Given the description of an element on the screen output the (x, y) to click on. 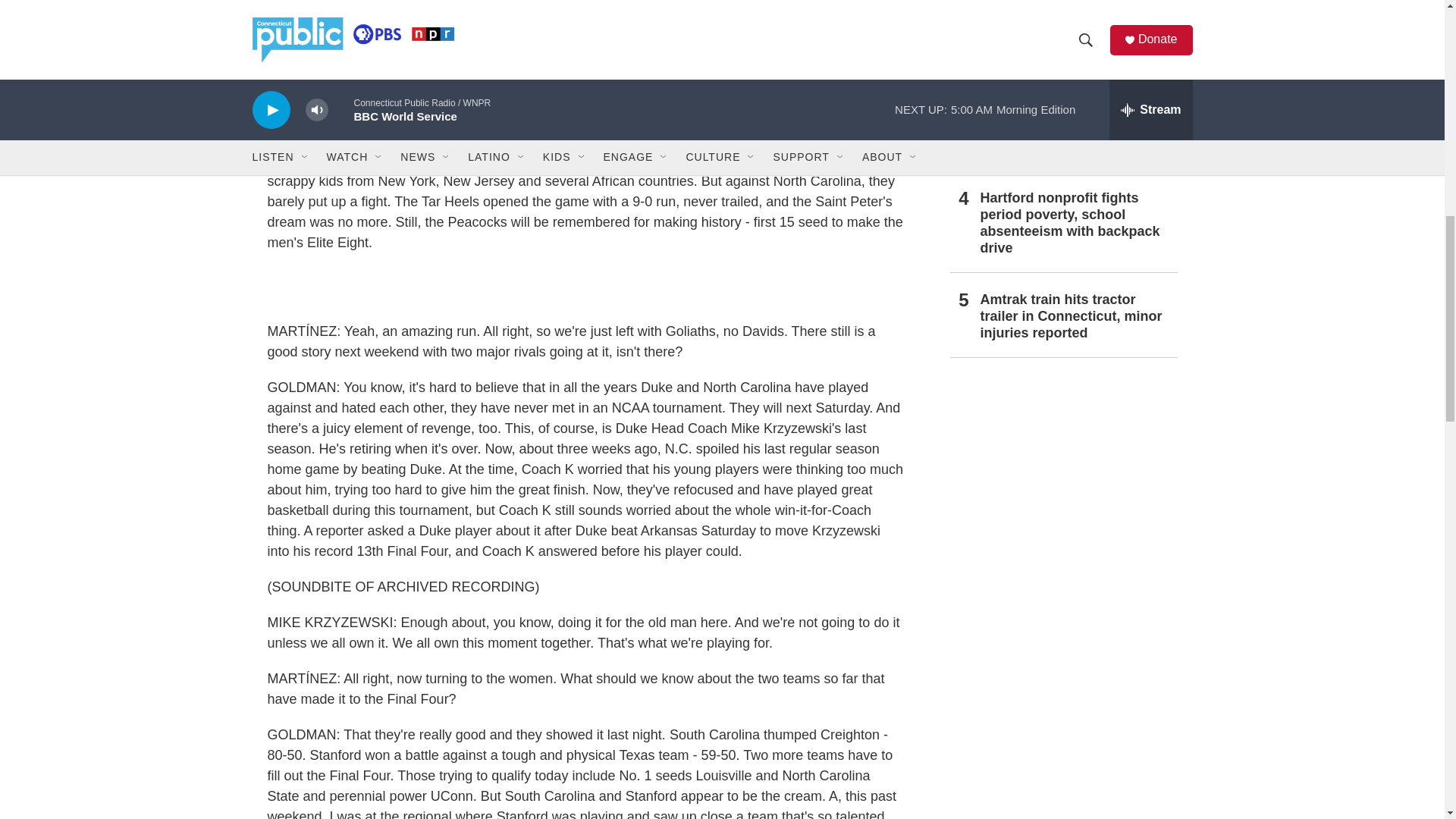
3rd party ad content (1062, 483)
3rd party ad content (585, 287)
3rd party ad content (1062, 702)
